Given the description of an element on the screen output the (x, y) to click on. 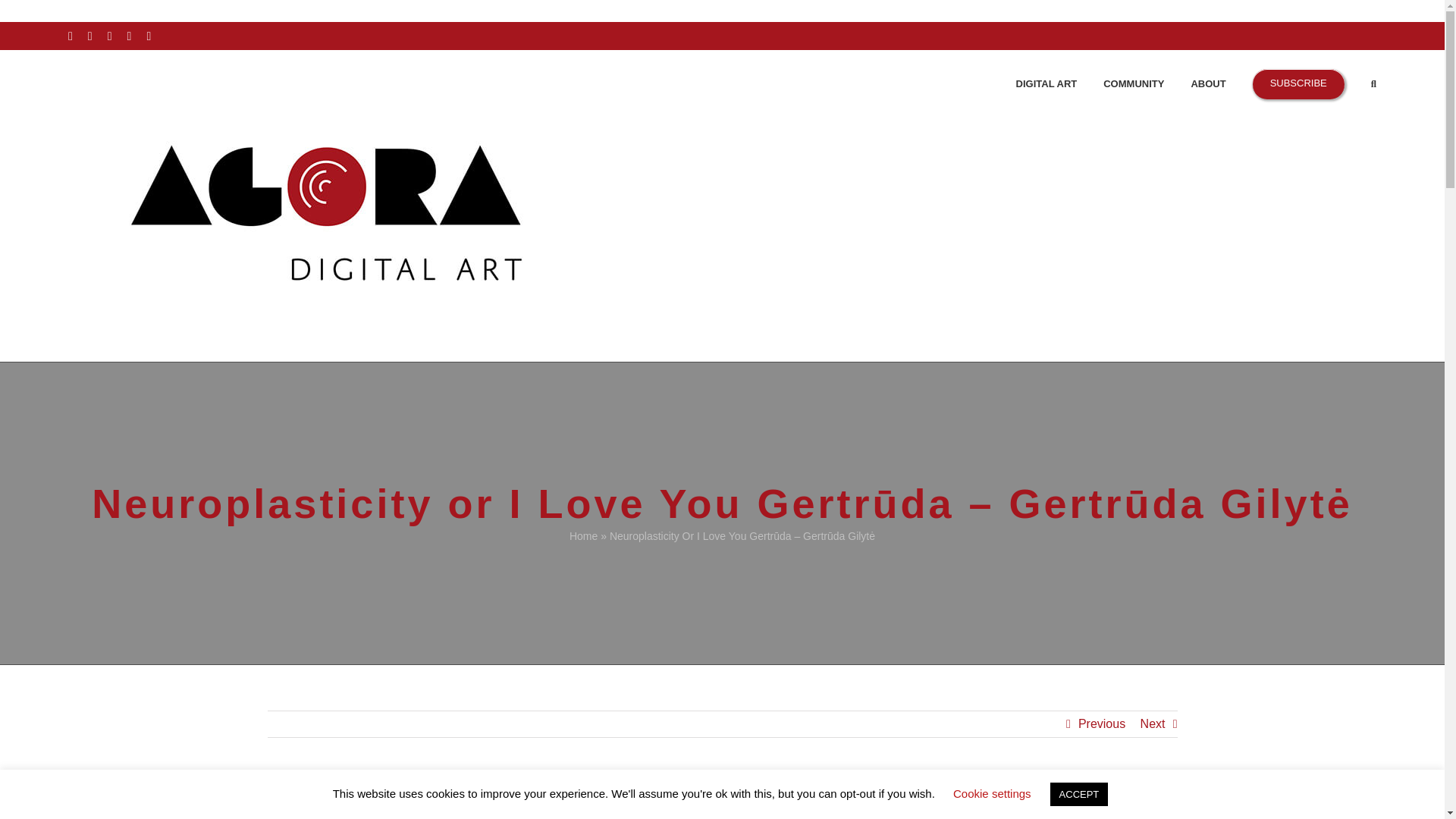
SUBSCRIBE (1297, 82)
COMMUNITY (1133, 82)
DIGITAL ART (1046, 82)
